Given the description of an element on the screen output the (x, y) to click on. 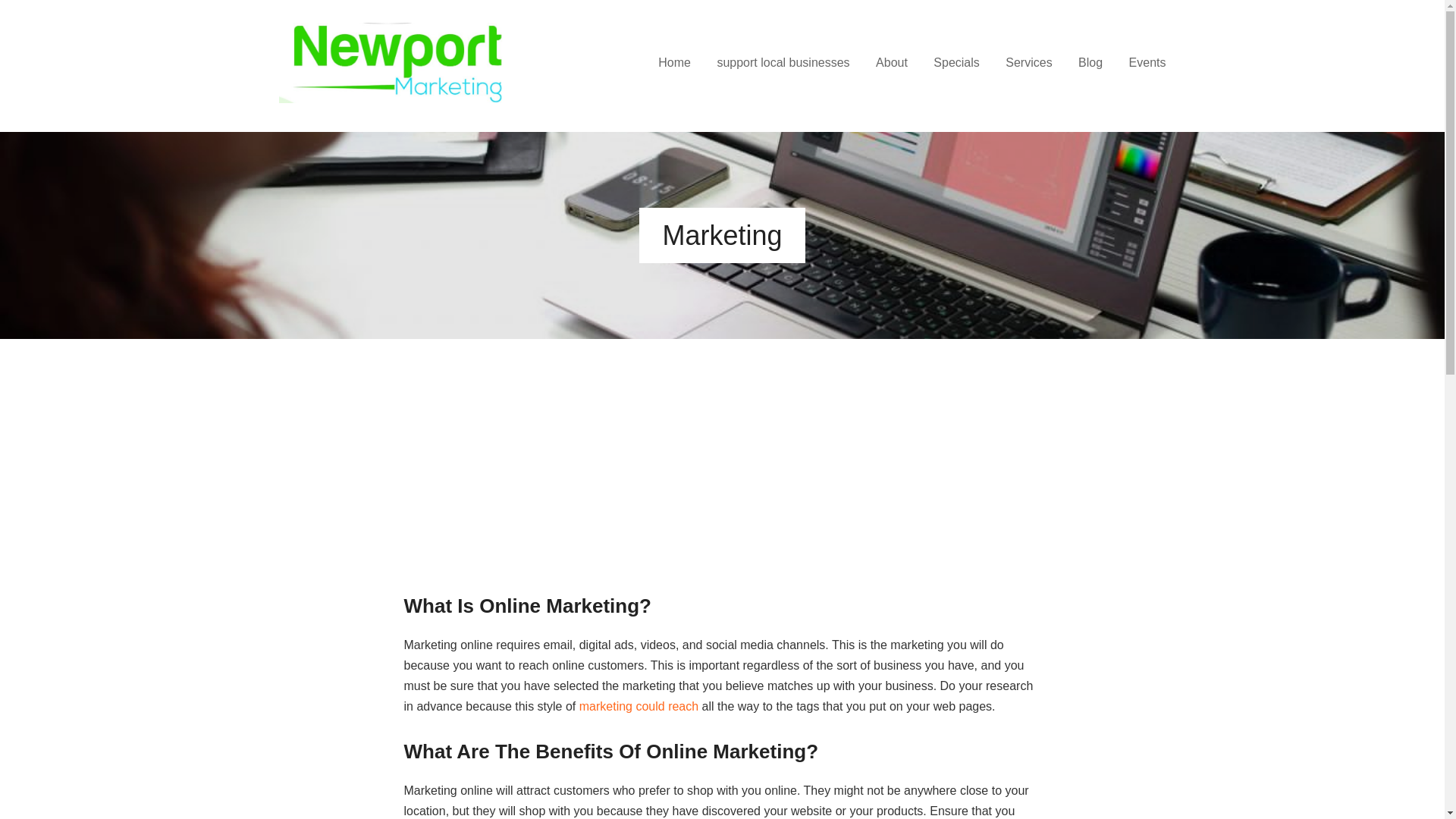
Home (674, 64)
Blog (1090, 64)
support local businesses (782, 64)
Services (1028, 64)
About (891, 64)
marketing could reach (638, 706)
Events (1147, 64)
Specials (955, 64)
